Given the description of an element on the screen output the (x, y) to click on. 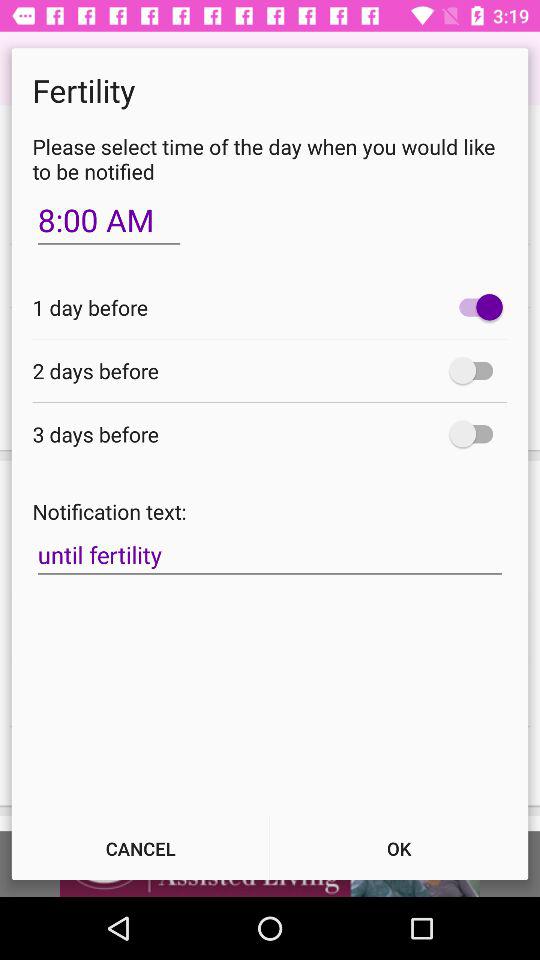
toggle 2 days before notification option (476, 370)
